Given the description of an element on the screen output the (x, y) to click on. 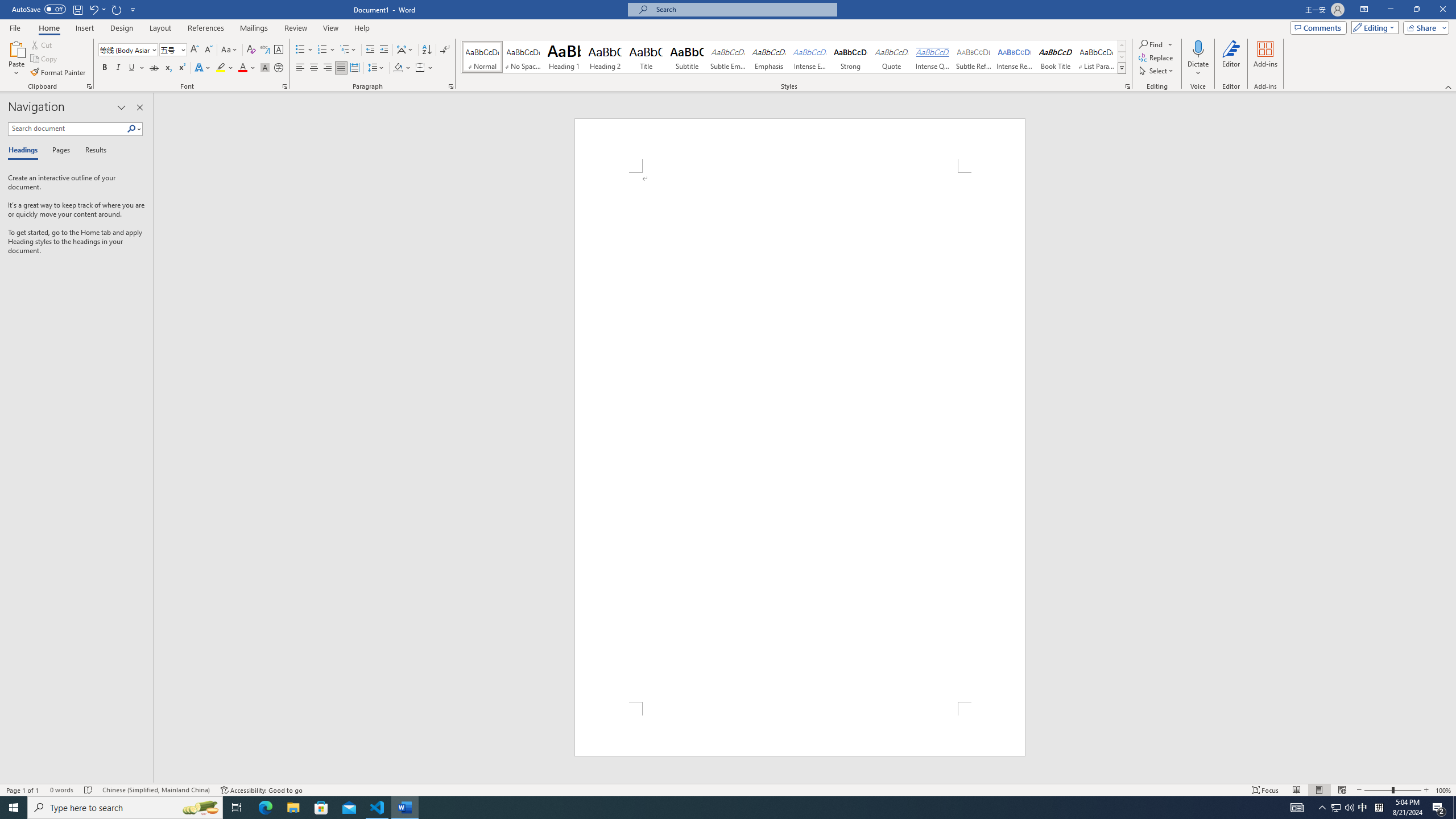
Replace... (1156, 56)
Undo Apply Quick Style (96, 9)
Emphasis (768, 56)
Repeat Style (117, 9)
